Given the description of an element on the screen output the (x, y) to click on. 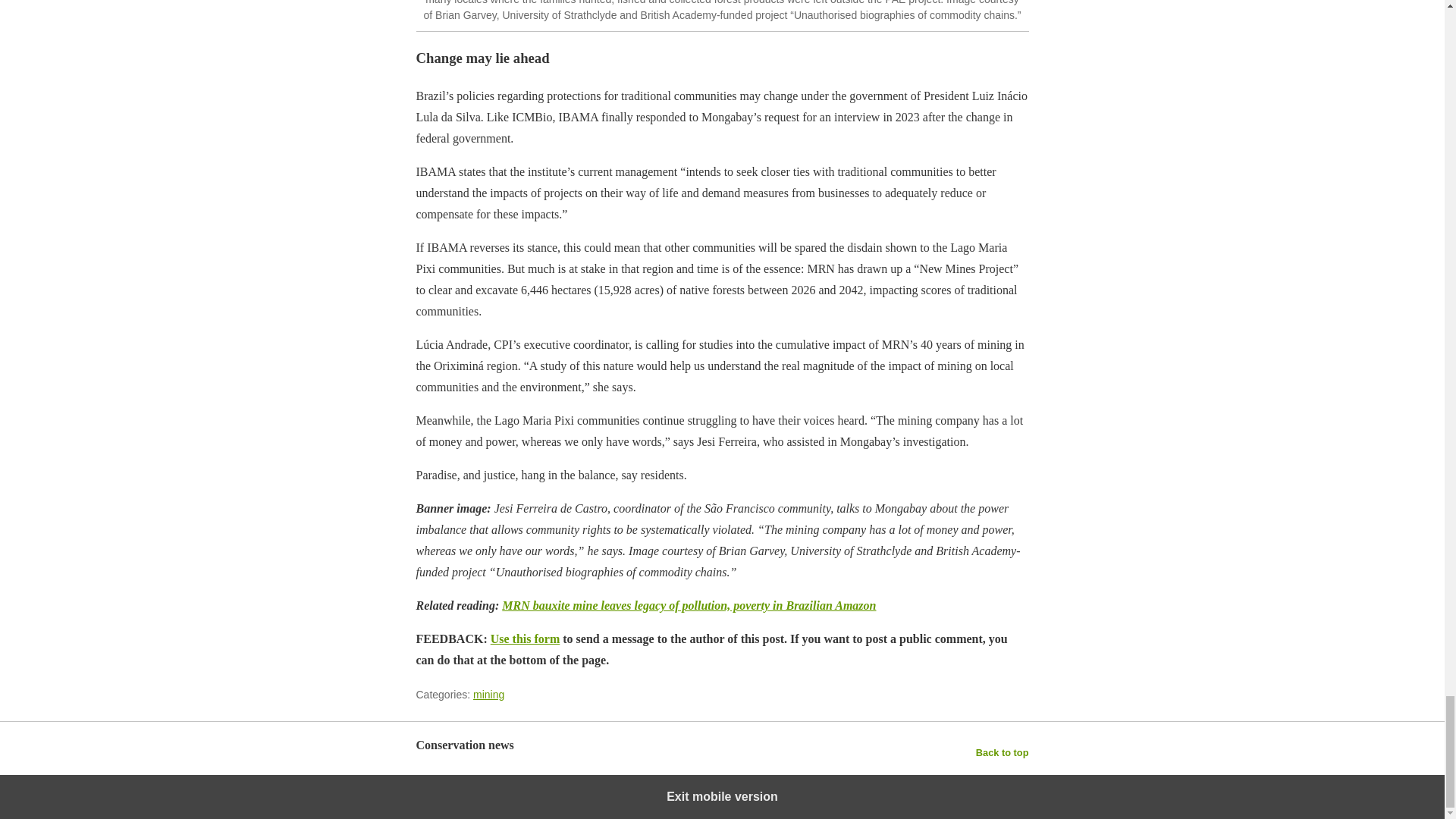
mining (488, 694)
Back to top (1002, 752)
Use this form (525, 638)
